Given the description of an element on the screen output the (x, y) to click on. 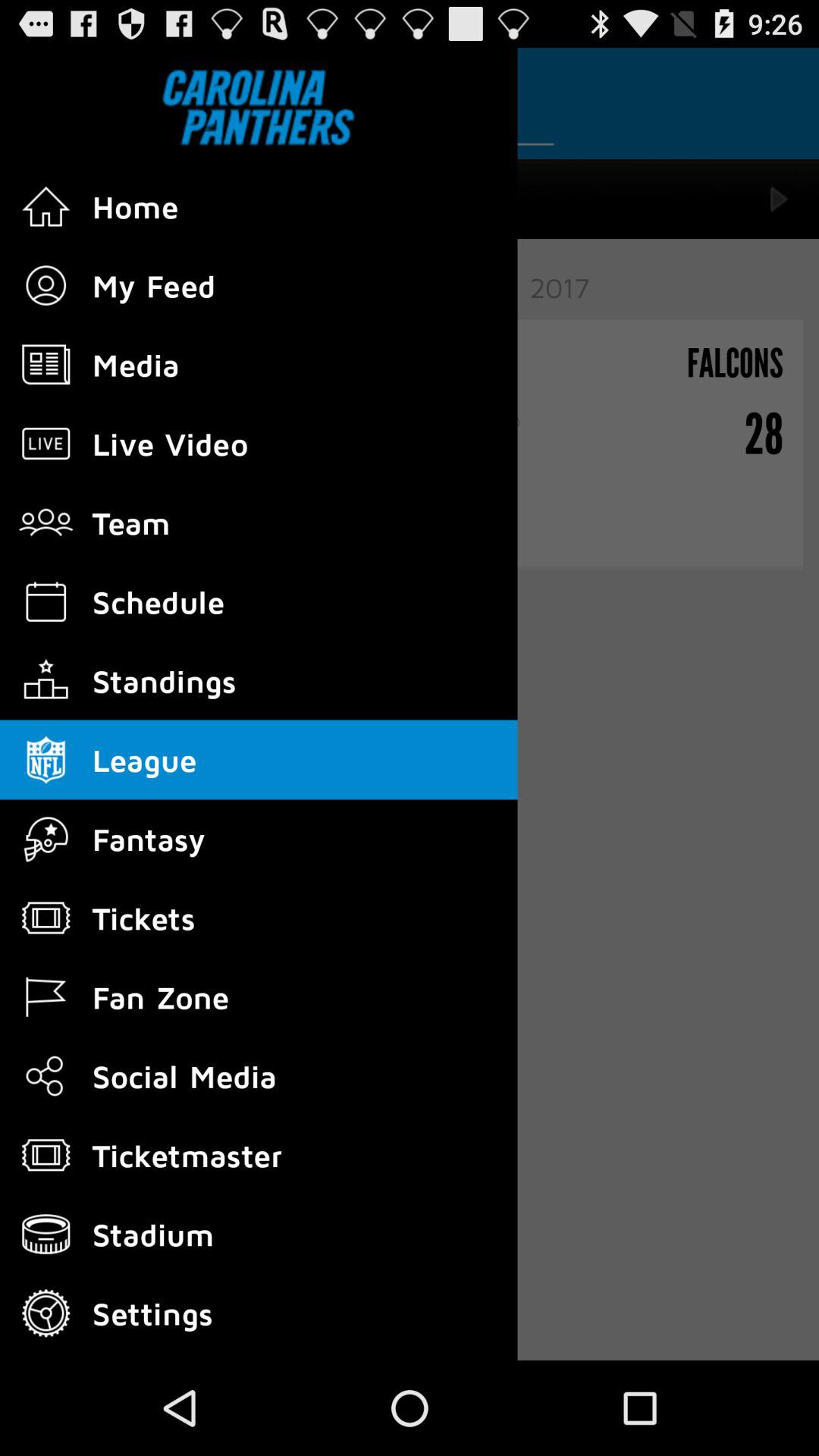
select the stadium icon next to stadium (45, 1234)
tap on the icon which is just beside the league (45, 760)
select home icon (45, 206)
